Given the description of an element on the screen output the (x, y) to click on. 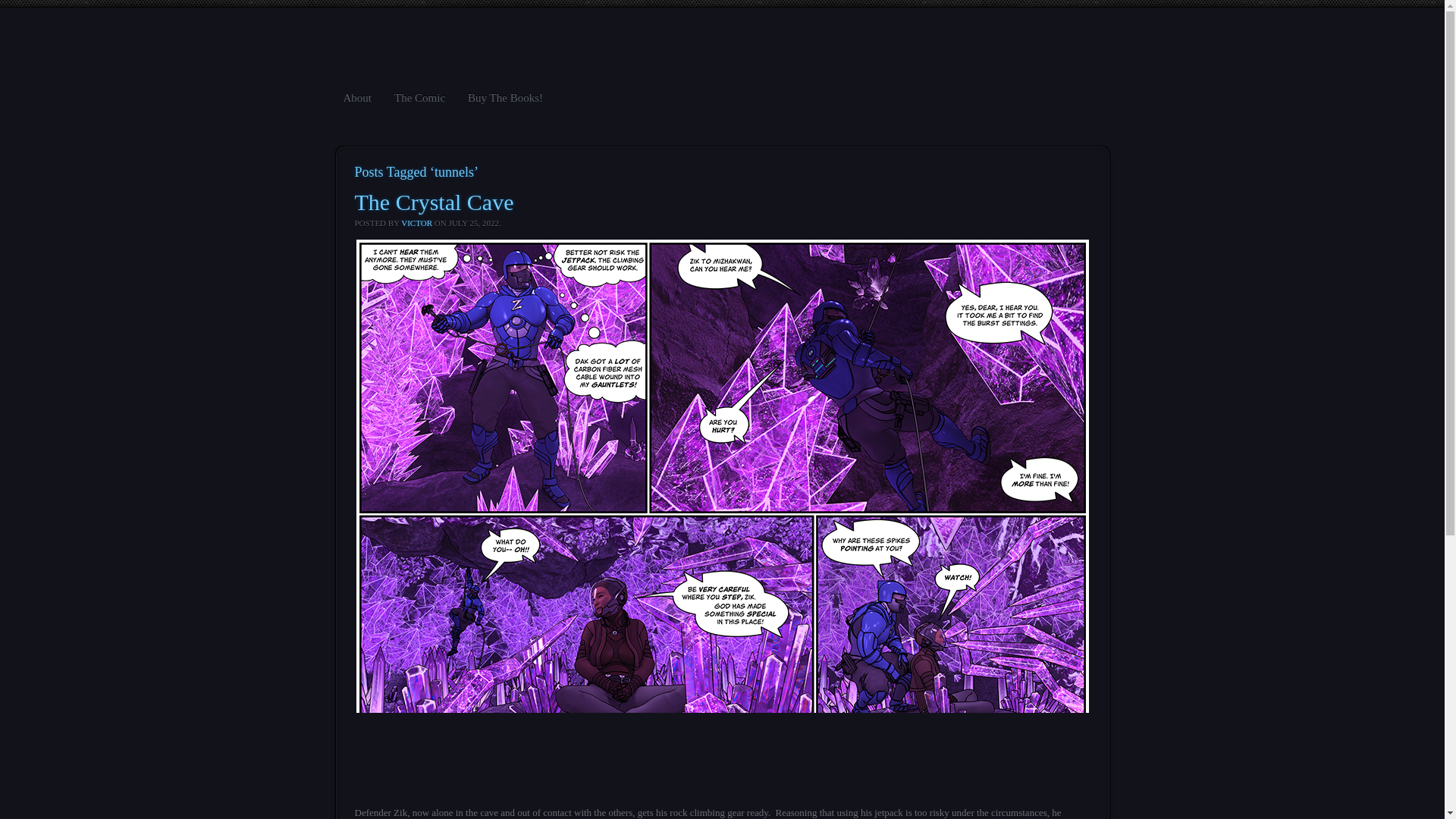
The Crystal Cave (722, 785)
The Crystal Cave (434, 201)
Victor (416, 222)
Buy The Books! (505, 97)
The Crystal Cave (434, 201)
VICTOR (416, 222)
About (356, 97)
The Comic (419, 97)
